Given the description of an element on the screen output the (x, y) to click on. 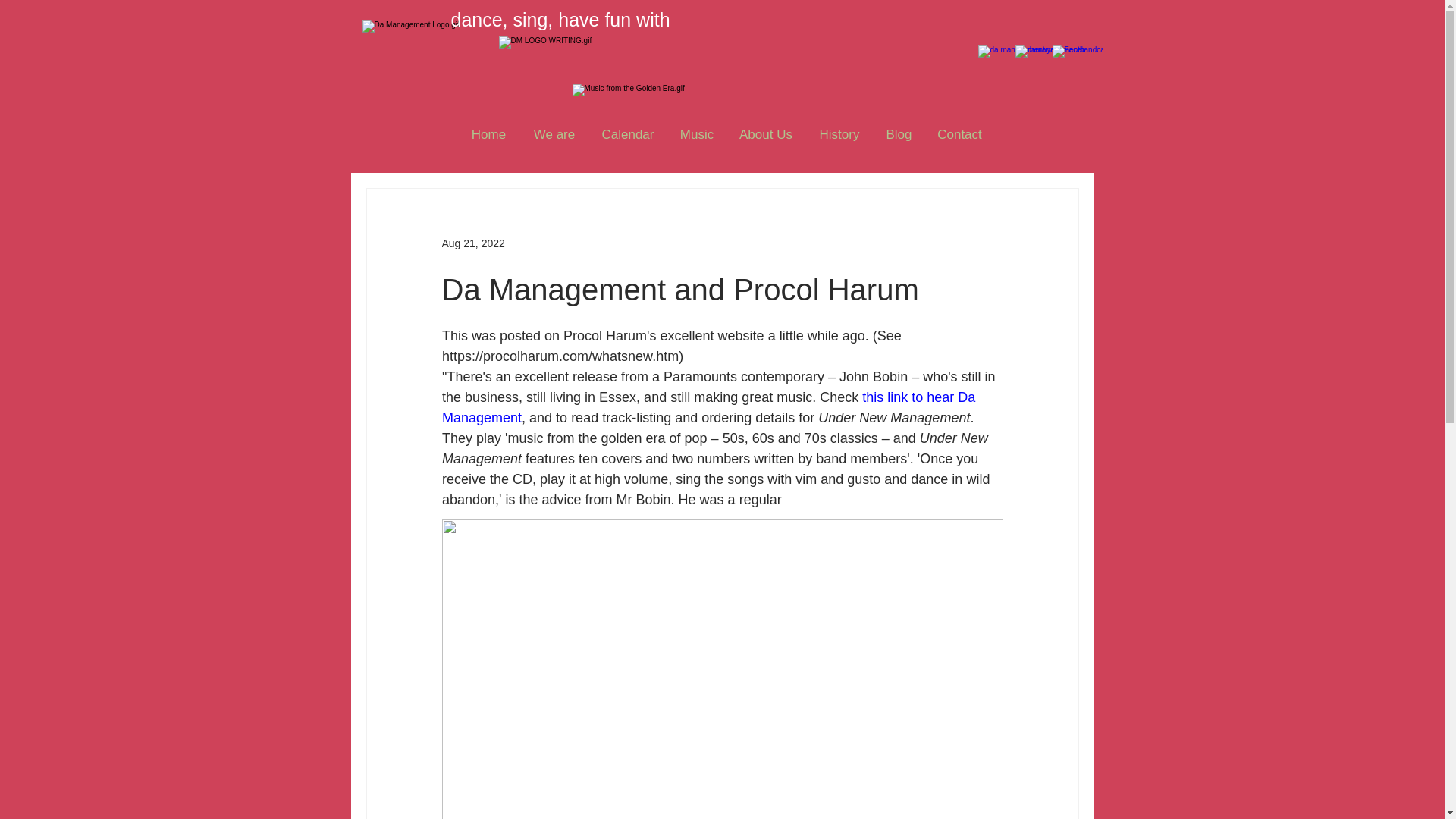
History (838, 134)
Aug 21, 2022 (472, 242)
Blog (898, 134)
Calendar (627, 134)
Home (488, 134)
this link to hear Da Management (709, 407)
We are (553, 134)
About Us (765, 134)
Contact (959, 134)
Music (695, 134)
